Given the description of an element on the screen output the (x, y) to click on. 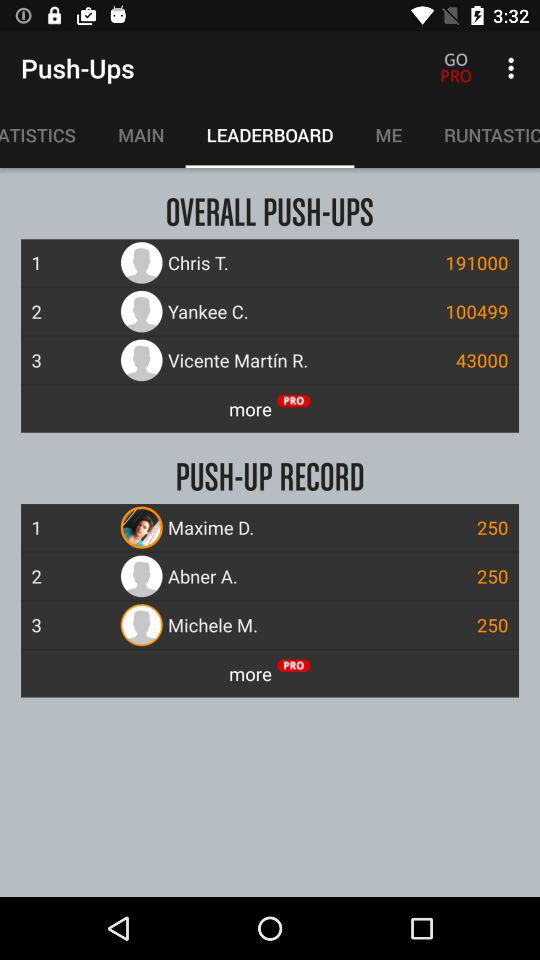
jump until runtastic apps item (481, 135)
